Given the description of an element on the screen output the (x, y) to click on. 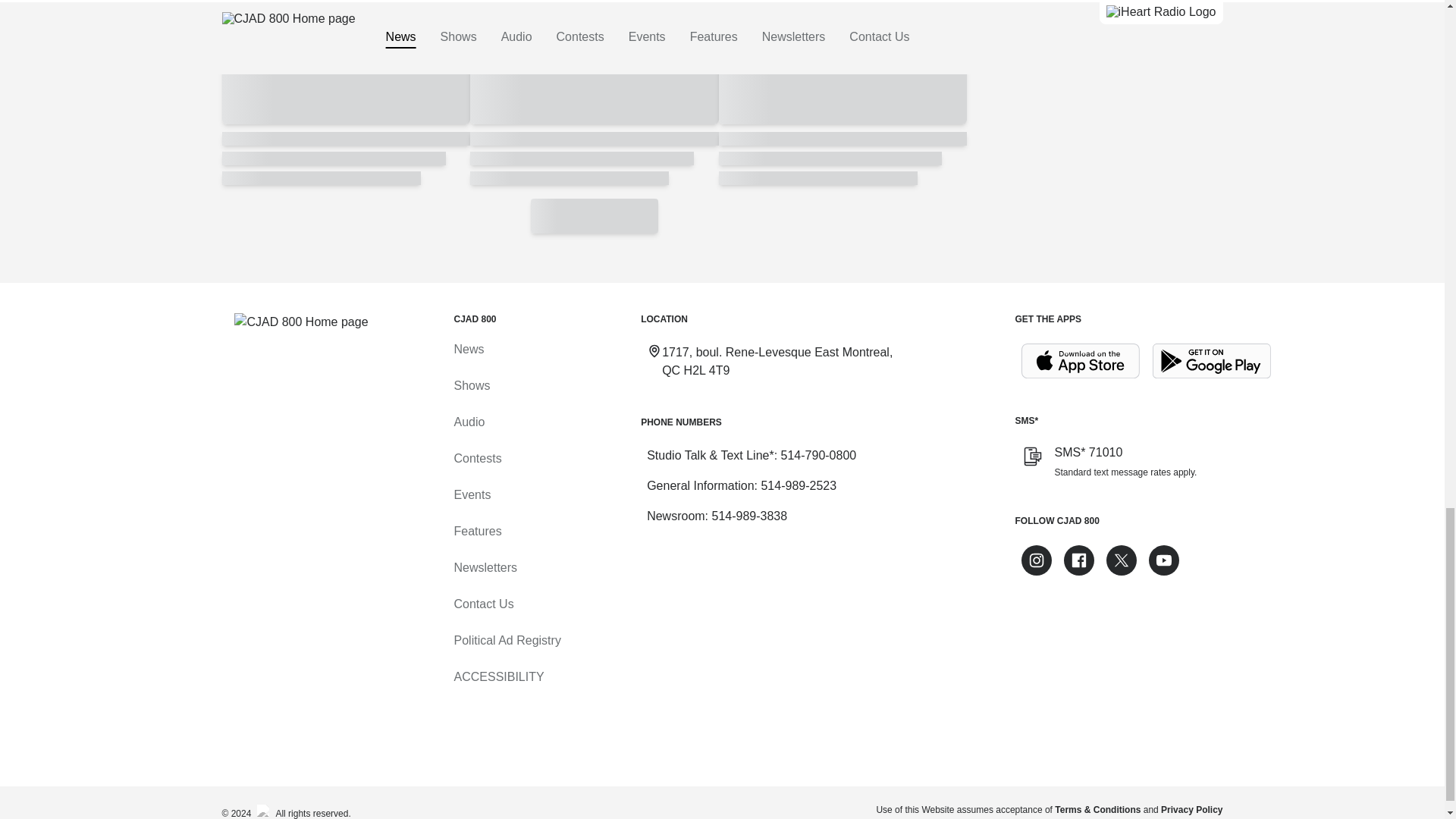
Political Ad Registry (506, 640)
Contests (476, 458)
Accessibility (497, 676)
Contact Us (482, 603)
Shows (470, 385)
Newsletters (484, 567)
Events (471, 494)
Get it on Google Play (1212, 361)
Download on the App Store (1080, 361)
Features (476, 530)
